Given the description of an element on the screen output the (x, y) to click on. 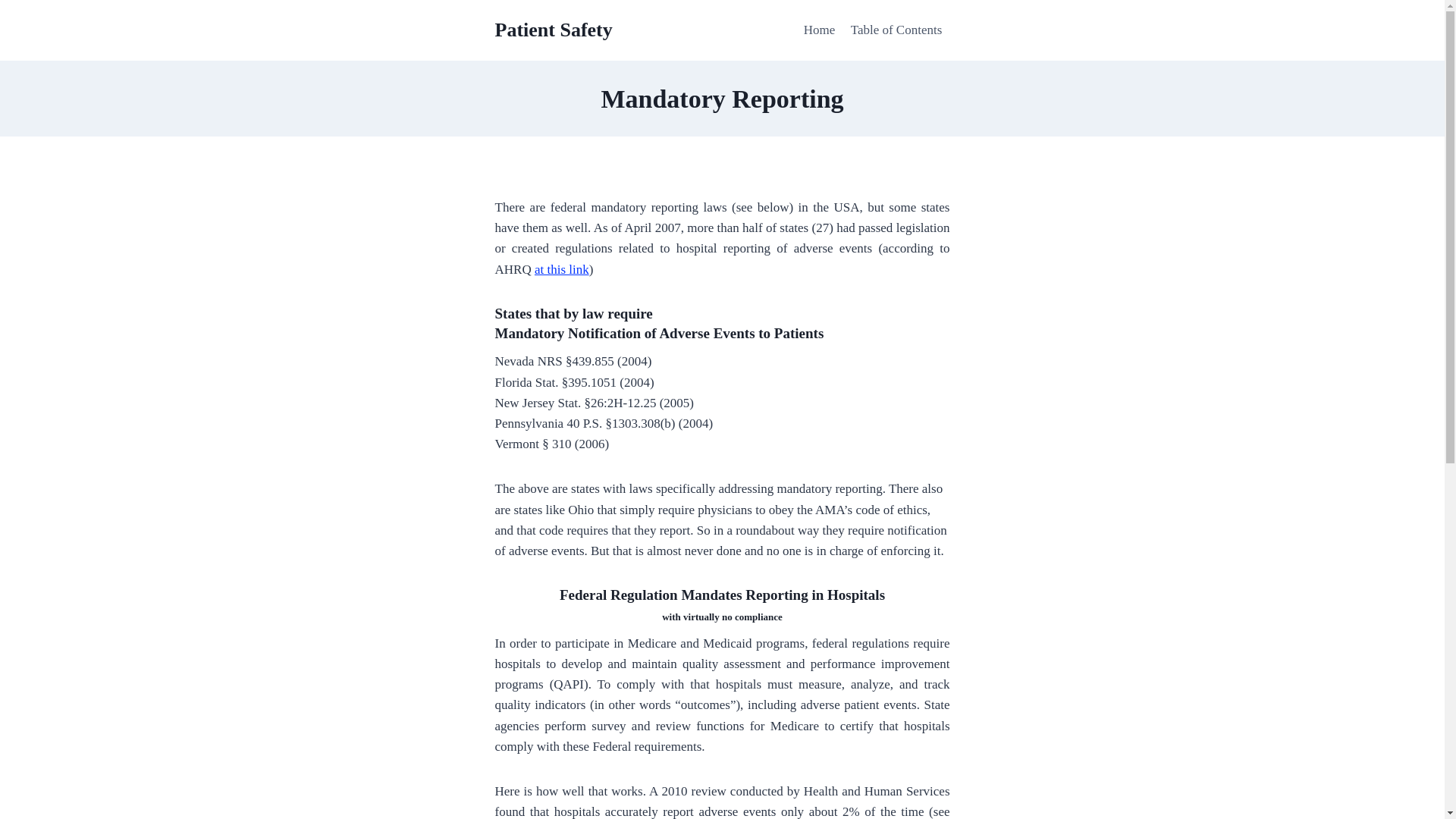
at this link (561, 269)
Patient Safety (553, 29)
Home (819, 30)
Table of Contents (896, 30)
